Given the description of an element on the screen output the (x, y) to click on. 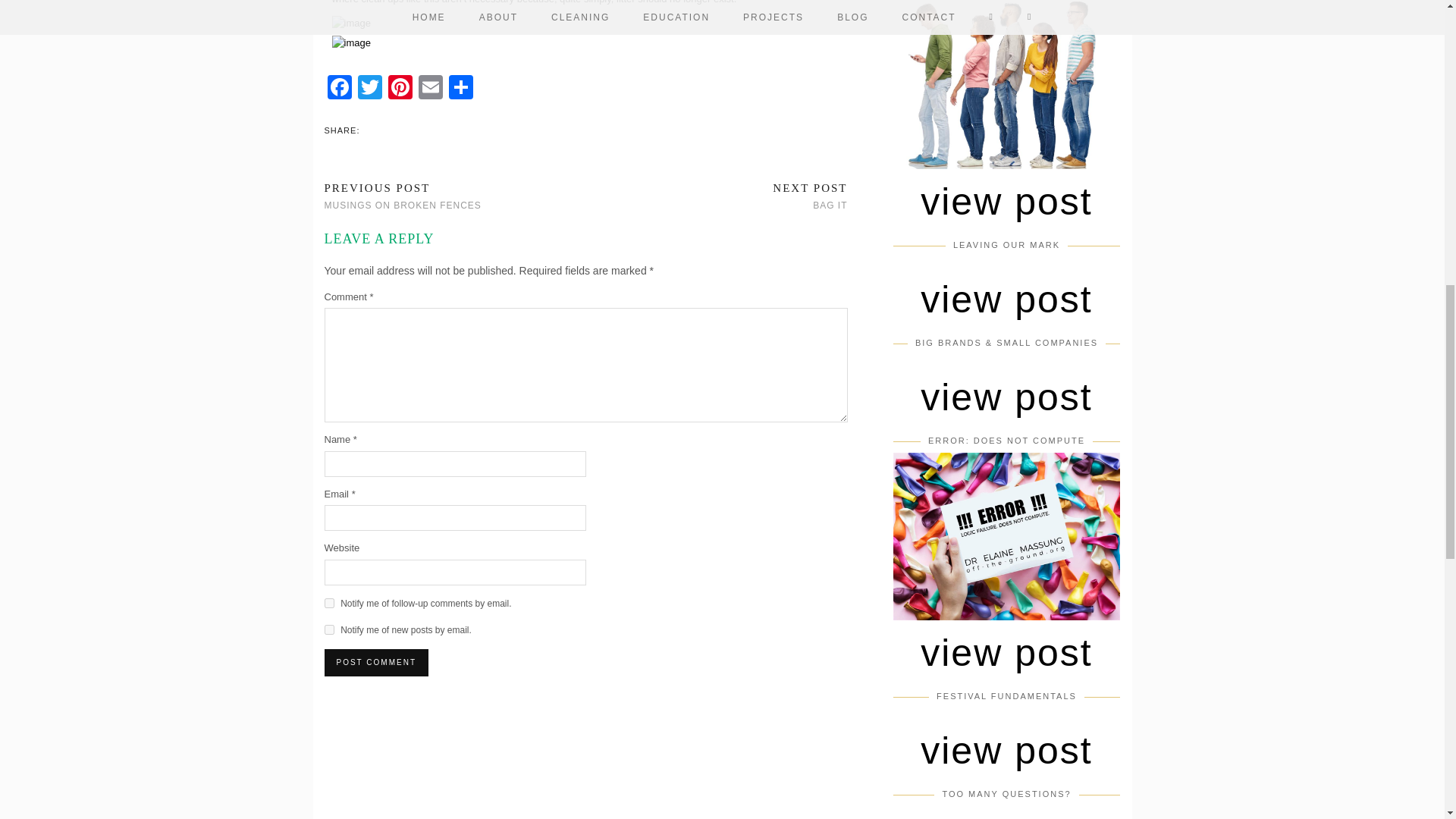
Pinterest (399, 89)
subscribe (329, 629)
Email (429, 89)
Post Comment (376, 662)
Facebook (339, 89)
Email (429, 89)
Share (460, 89)
Facebook (339, 89)
Pinterest (399, 89)
Twitter (370, 89)
Twitter (370, 89)
subscribe (402, 196)
